Given the description of an element on the screen output the (x, y) to click on. 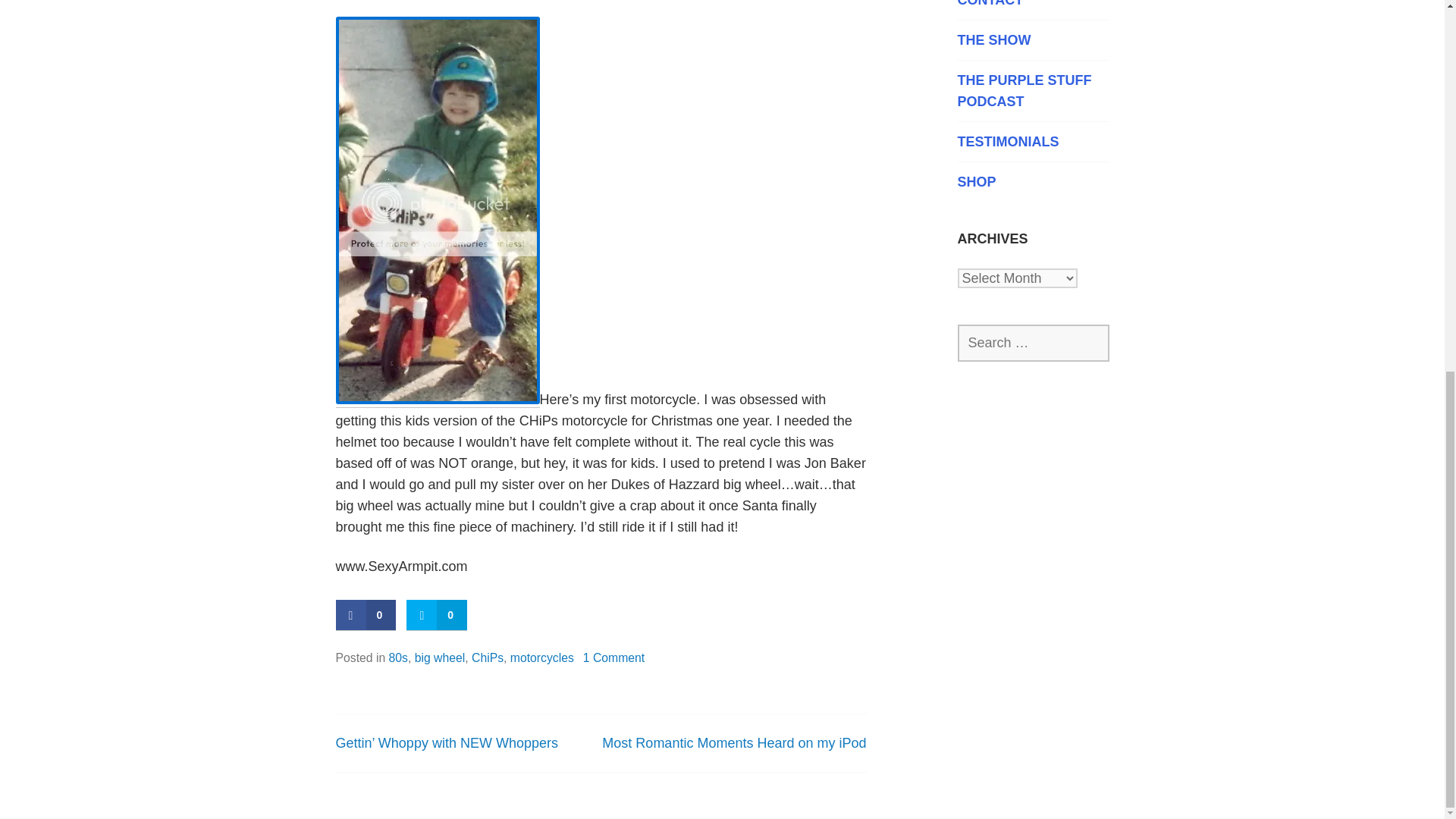
CONTACT (1032, 5)
big wheel (439, 657)
The Sexy Armpit Show (1032, 39)
0 (436, 614)
80s (397, 657)
motorcycles (542, 657)
SHOP (1032, 181)
0 (365, 614)
TESTIMONIALS (1032, 141)
Most Romantic Moments Heard on my iPod (734, 743)
THE PURPLE STUFF PODCAST (1032, 90)
1 Comment (614, 657)
ChiPs (487, 657)
THE SHOW (1032, 39)
